Given the description of an element on the screen output the (x, y) to click on. 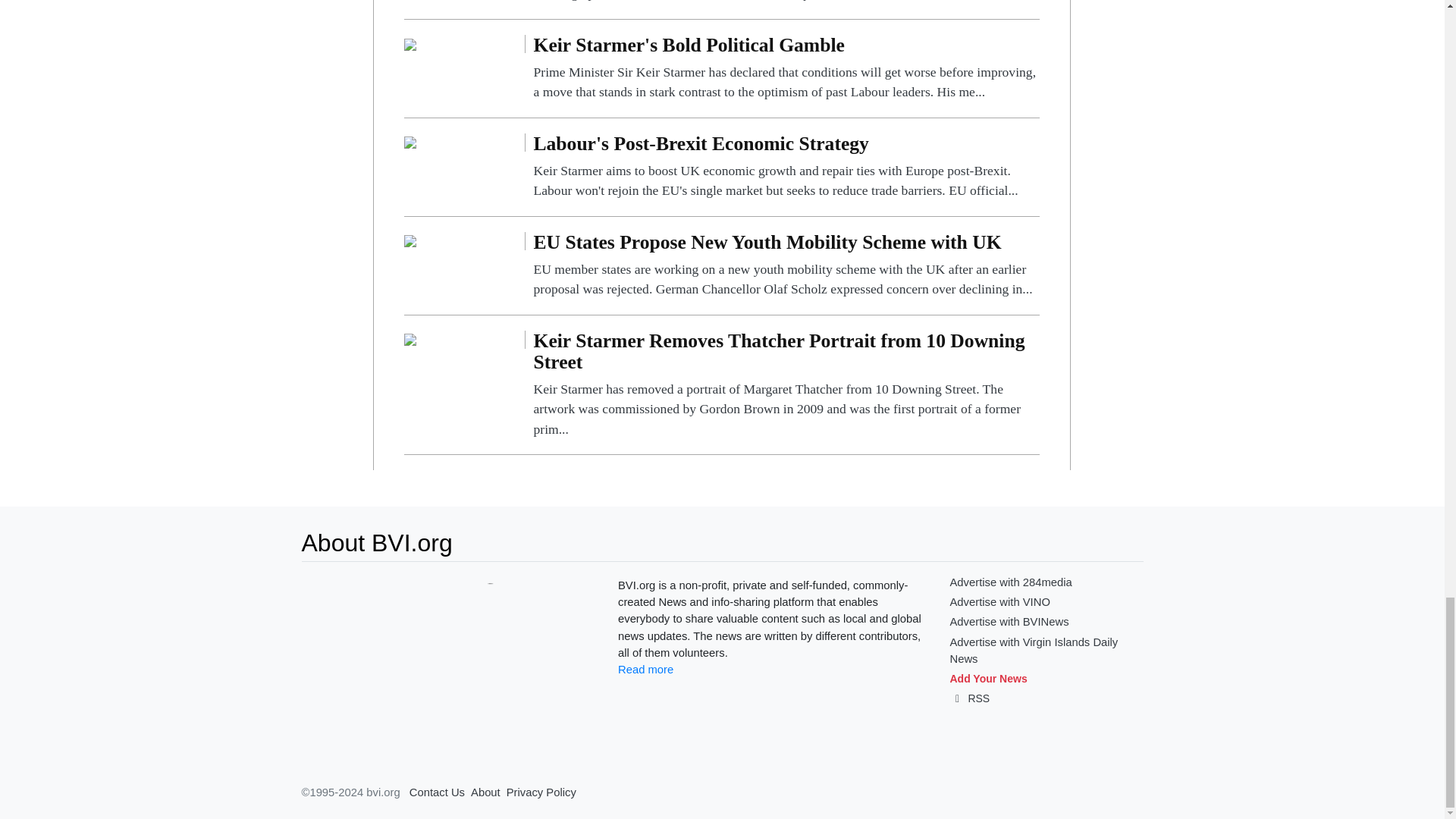
Labour's Post-Brexit Economic Strategy (785, 166)
EU States Propose New Youth Mobility Scheme with UK (785, 265)
EU States Propose New Youth Mobility Scheme with UK (410, 240)
Labour's Post-Brexit Economic Strategy (410, 141)
Keir Starmer's Bold Political Gamble (785, 68)
Keir Starmer's Bold Political Gamble (410, 42)
